Given the description of an element on the screen output the (x, y) to click on. 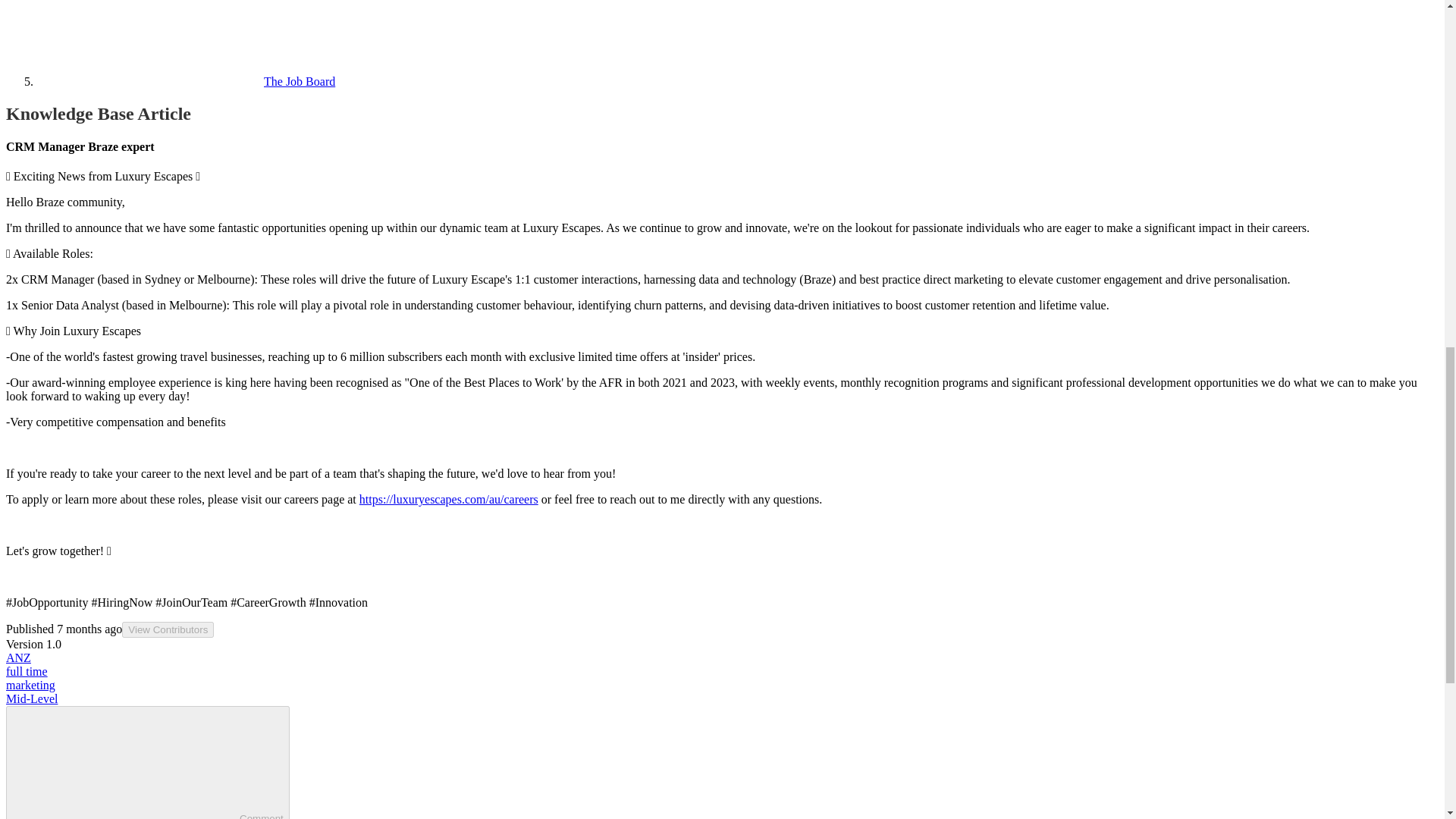
Comment (125, 763)
full time (26, 671)
January 8, 2024 at 5:59 PM (89, 628)
marketing (30, 684)
CommentComment (147, 762)
View Contributors (168, 629)
The Job Board (185, 81)
Mid-Level (31, 698)
ANZ (17, 657)
